Given the description of an element on the screen output the (x, y) to click on. 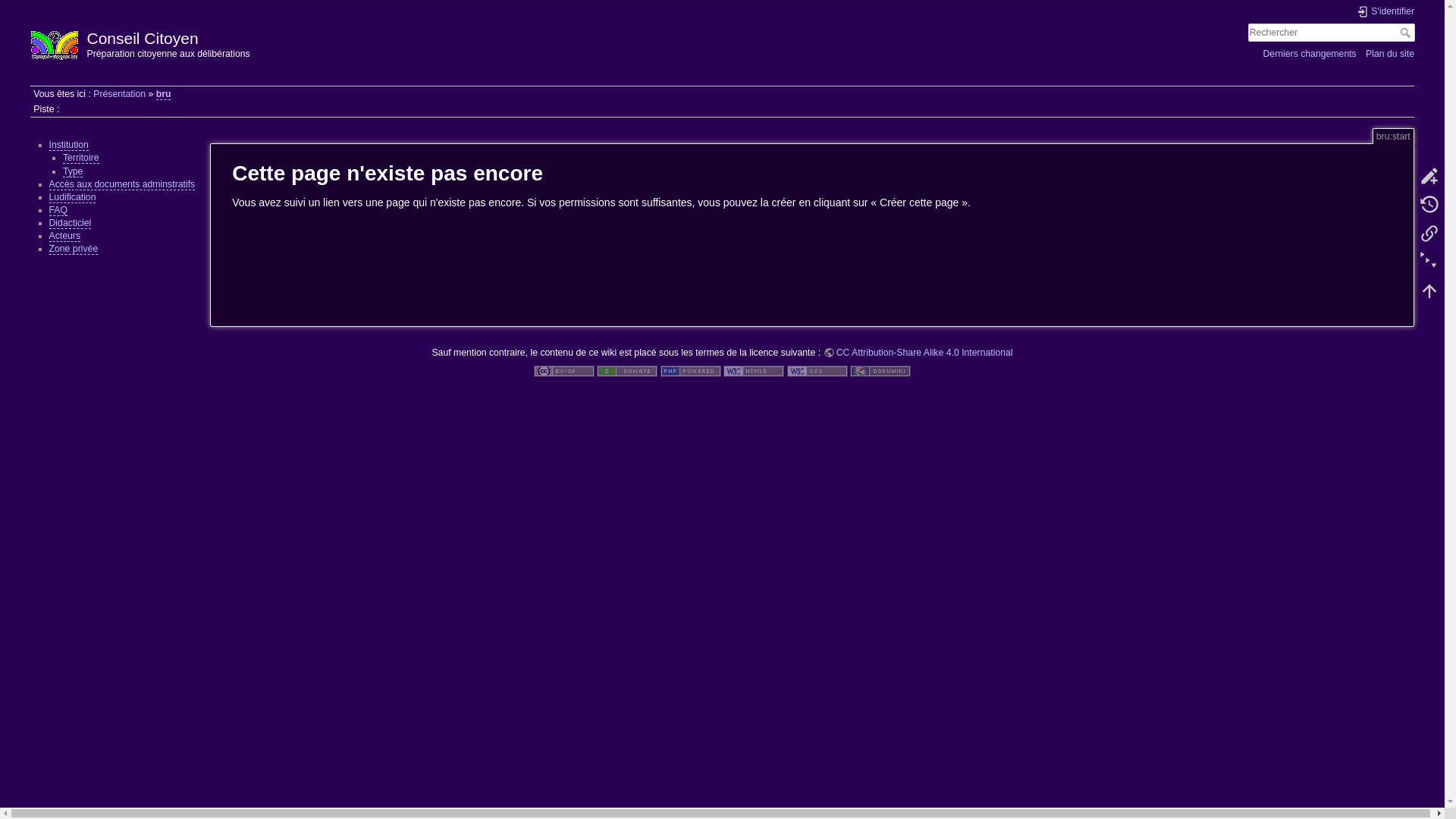
Valid HTML5 Element type: hover (753, 370)
Haut de page [t] Element type: hover (1429, 290)
FAQ Element type: text (57, 210)
Donate Element type: hover (626, 370)
Derniers changements Element type: text (1308, 53)
S'identifier Element type: text (1385, 11)
bru Element type: text (163, 94)
Valid CSS Element type: hover (817, 370)
Plan du site Element type: text (1389, 53)
Liens de retour Element type: hover (1429, 232)
Rechercher Element type: text (1406, 32)
Type Element type: text (72, 171)
Ludification Element type: text (71, 197)
Powered by PHP Element type: hover (690, 370)
Didacticiel Element type: text (69, 223)
Territoire Element type: text (80, 157)
Acteurs Element type: text (64, 235)
CC Attribution-Share Alike 4.0 International Element type: text (918, 352)
Institution Element type: text (67, 144)
Conseil Citoyen Element type: text (369, 34)
[F] Element type: hover (1331, 32)
Driven by DokuWiki Element type: hover (880, 370)
